Given the description of an element on the screen output the (x, y) to click on. 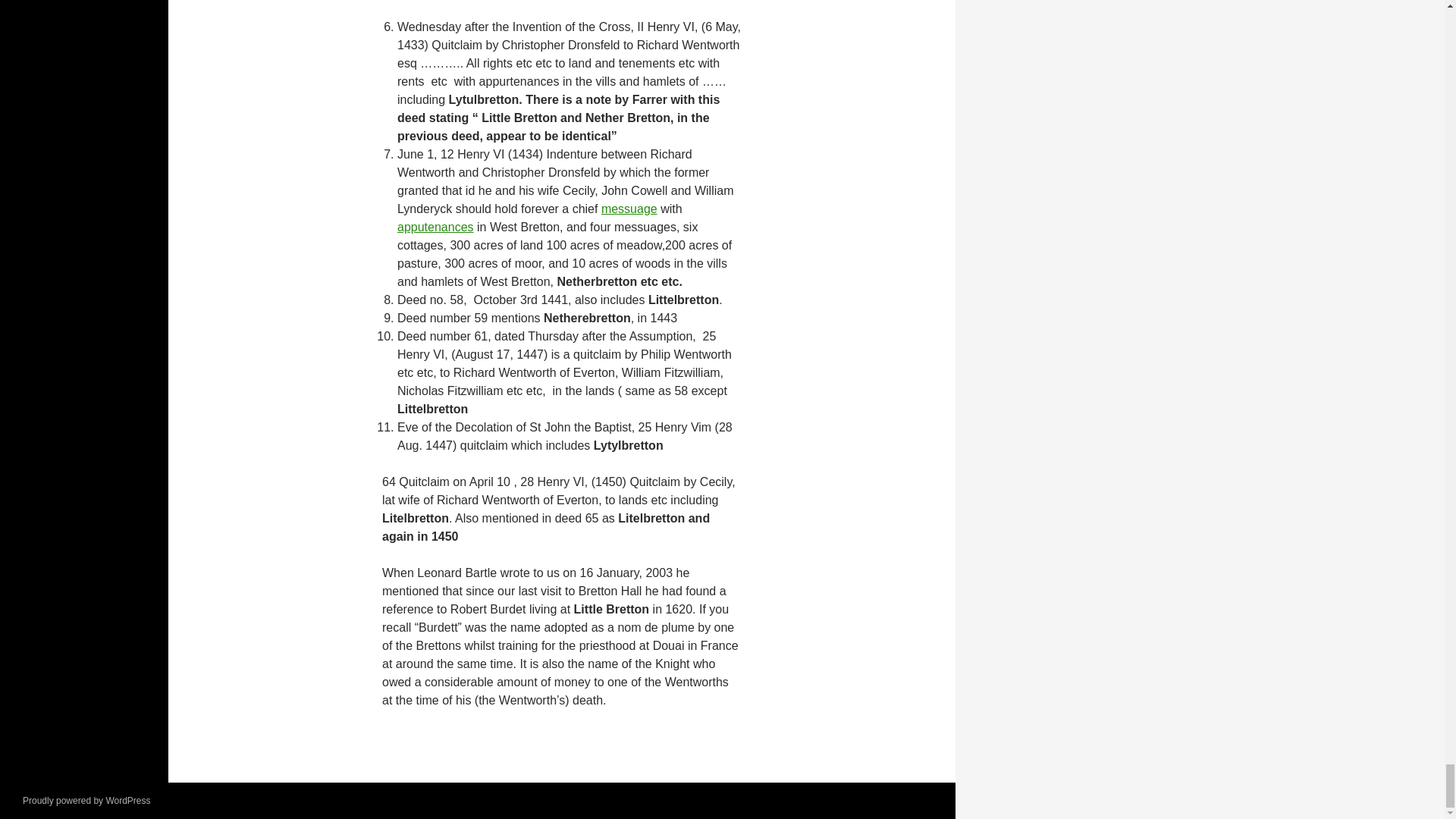
apputenances (435, 226)
Dictionary of terms (629, 208)
messuage (629, 208)
